Given the description of an element on the screen output the (x, y) to click on. 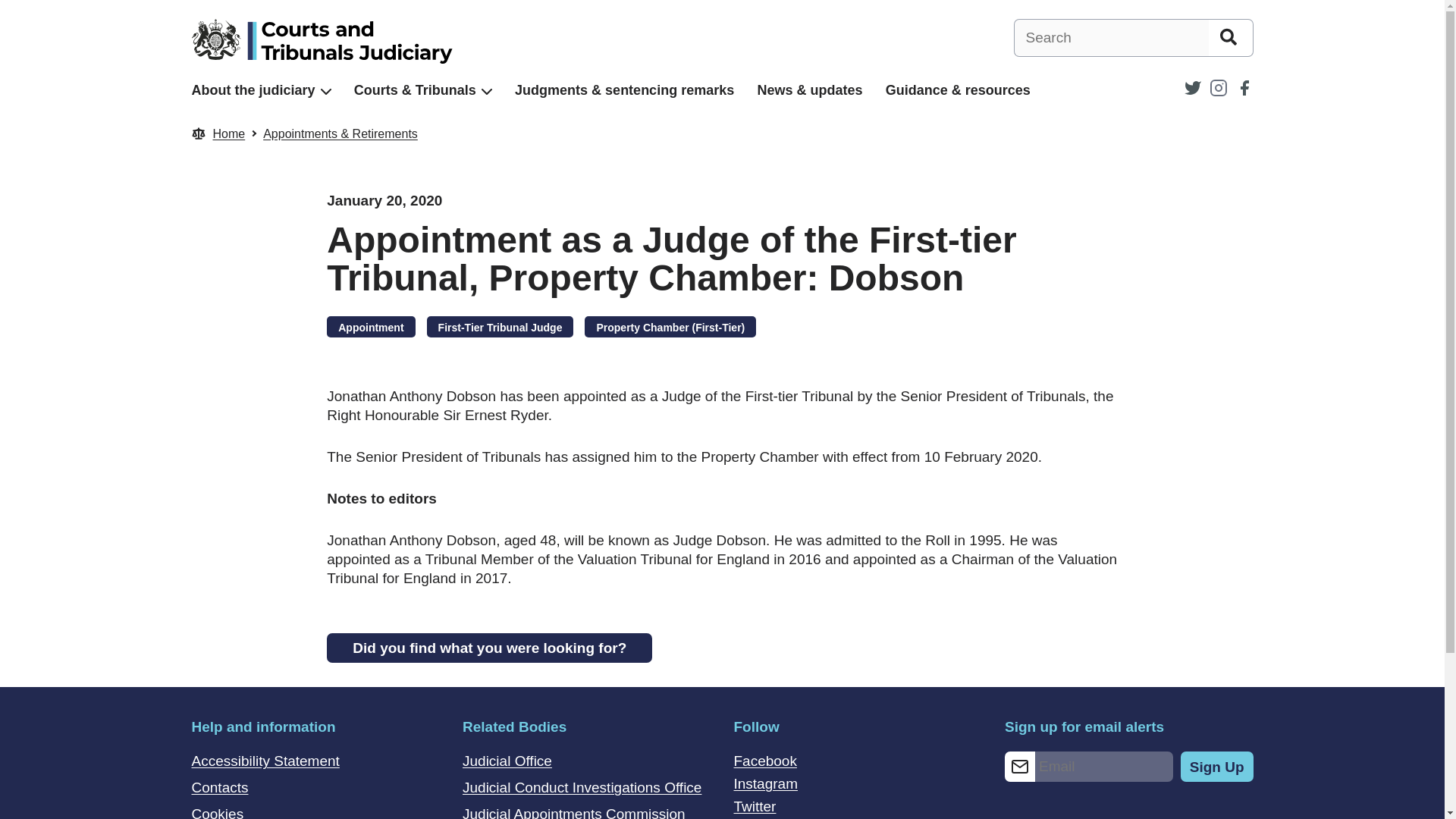
About the judiciary (252, 90)
Skip to main content (11, 7)
Sign Up (1216, 766)
